Given the description of an element on the screen output the (x, y) to click on. 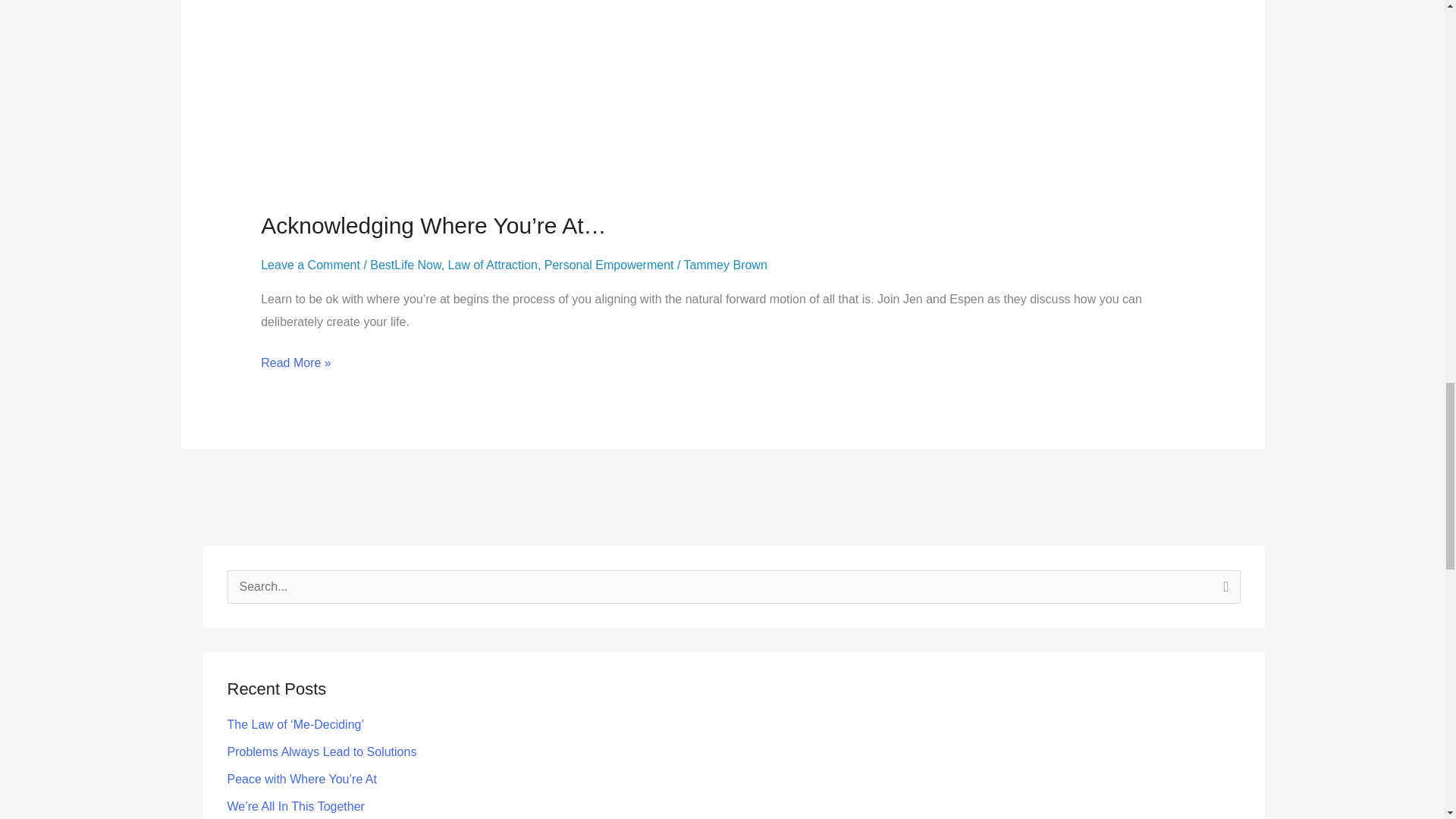
BestLife Now (405, 264)
Law of Attraction (492, 264)
View all posts by Tammey Brown (725, 264)
Leave a Comment (309, 264)
Tammey Brown (725, 264)
Personal Empowerment (609, 264)
